Given the description of an element on the screen output the (x, y) to click on. 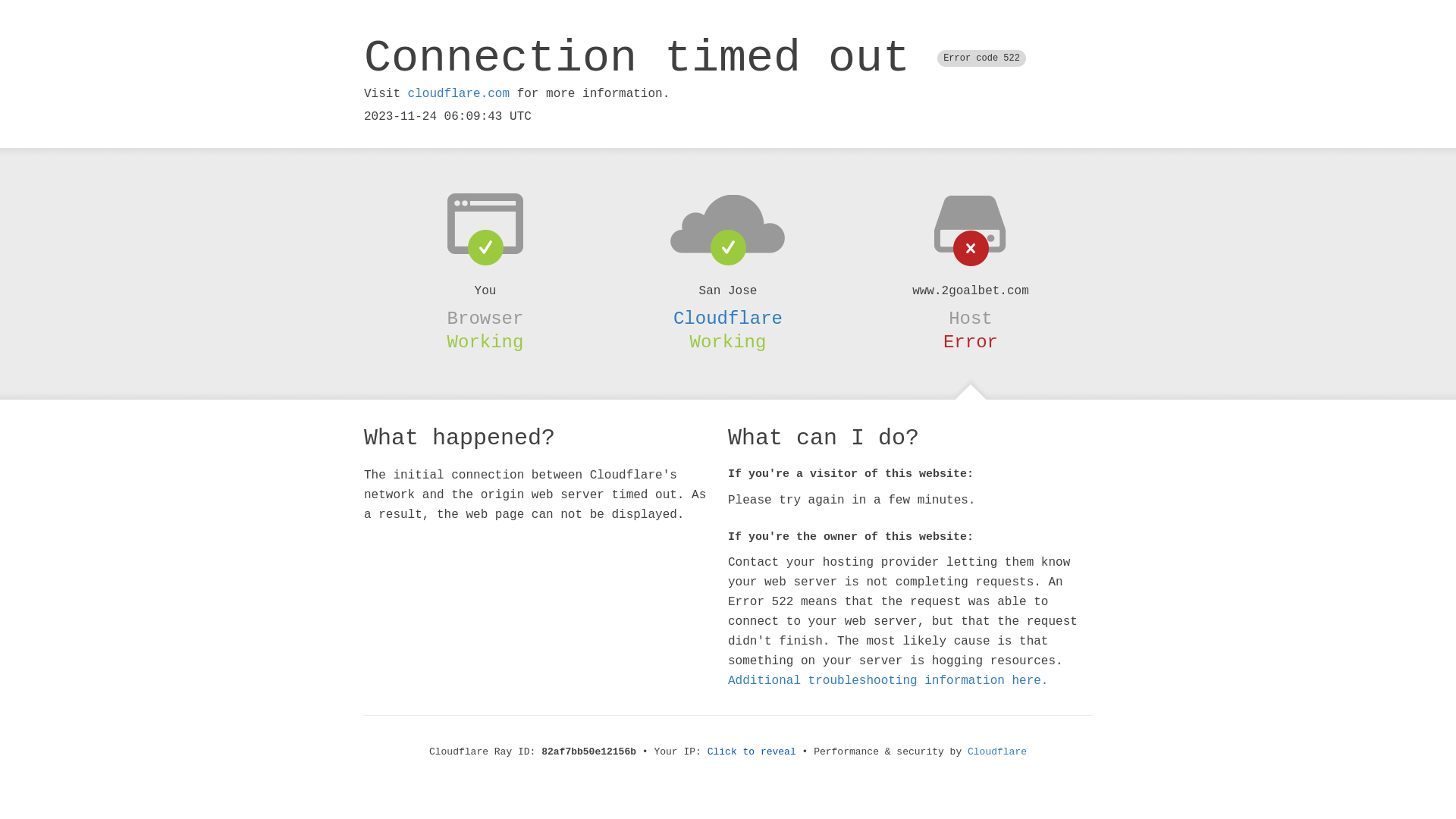
Click to reveal Element type: text (751, 751)
Cloudflare Element type: text (727, 318)
cloudflare.com Element type: text (458, 93)
Additional troubleshooting information here. Element type: text (888, 680)
Cloudflare Element type: text (996, 751)
